Given the description of an element on the screen output the (x, y) to click on. 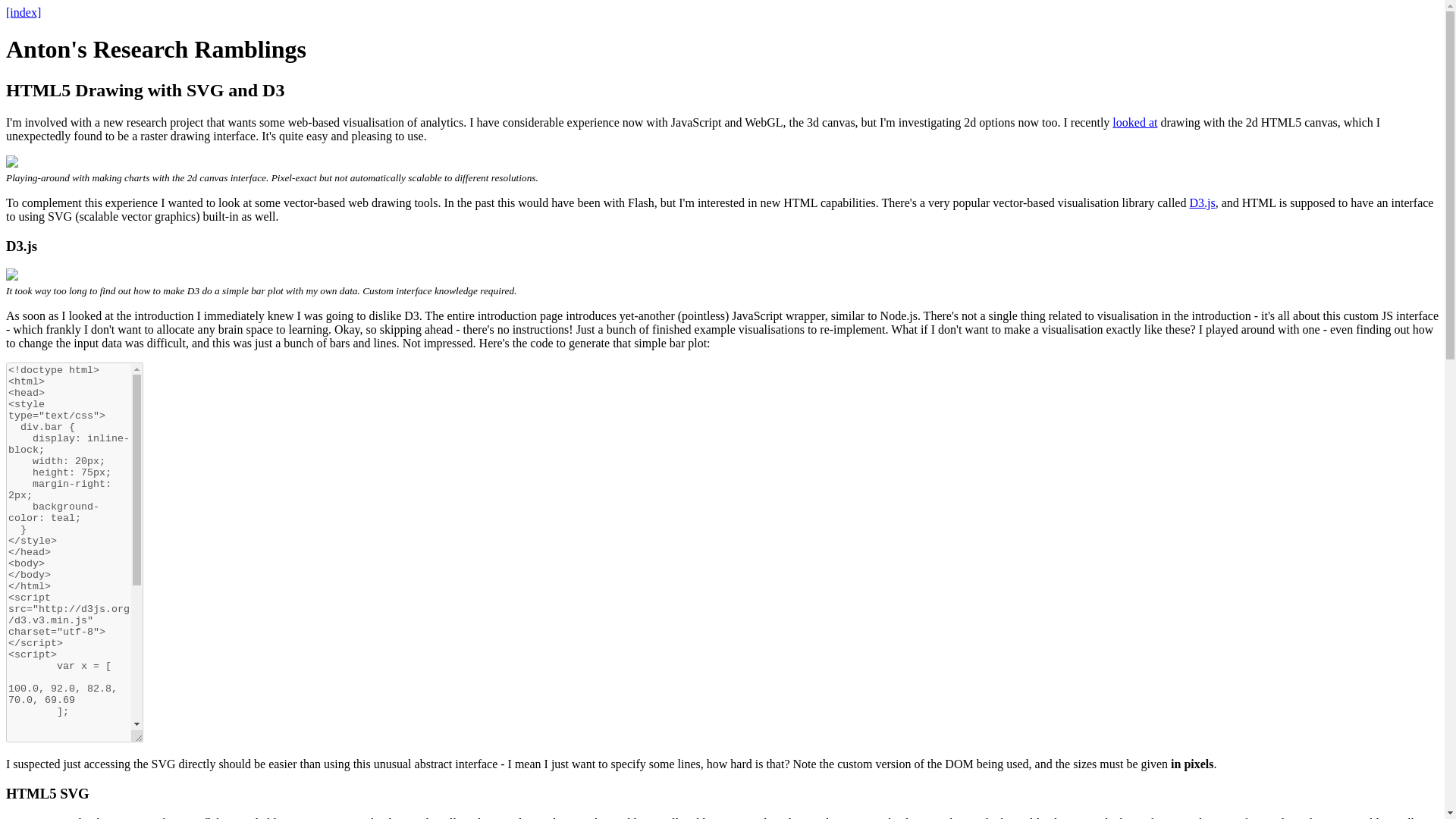
looked at (1134, 122)
D3.js (1201, 202)
